Given the description of an element on the screen output the (x, y) to click on. 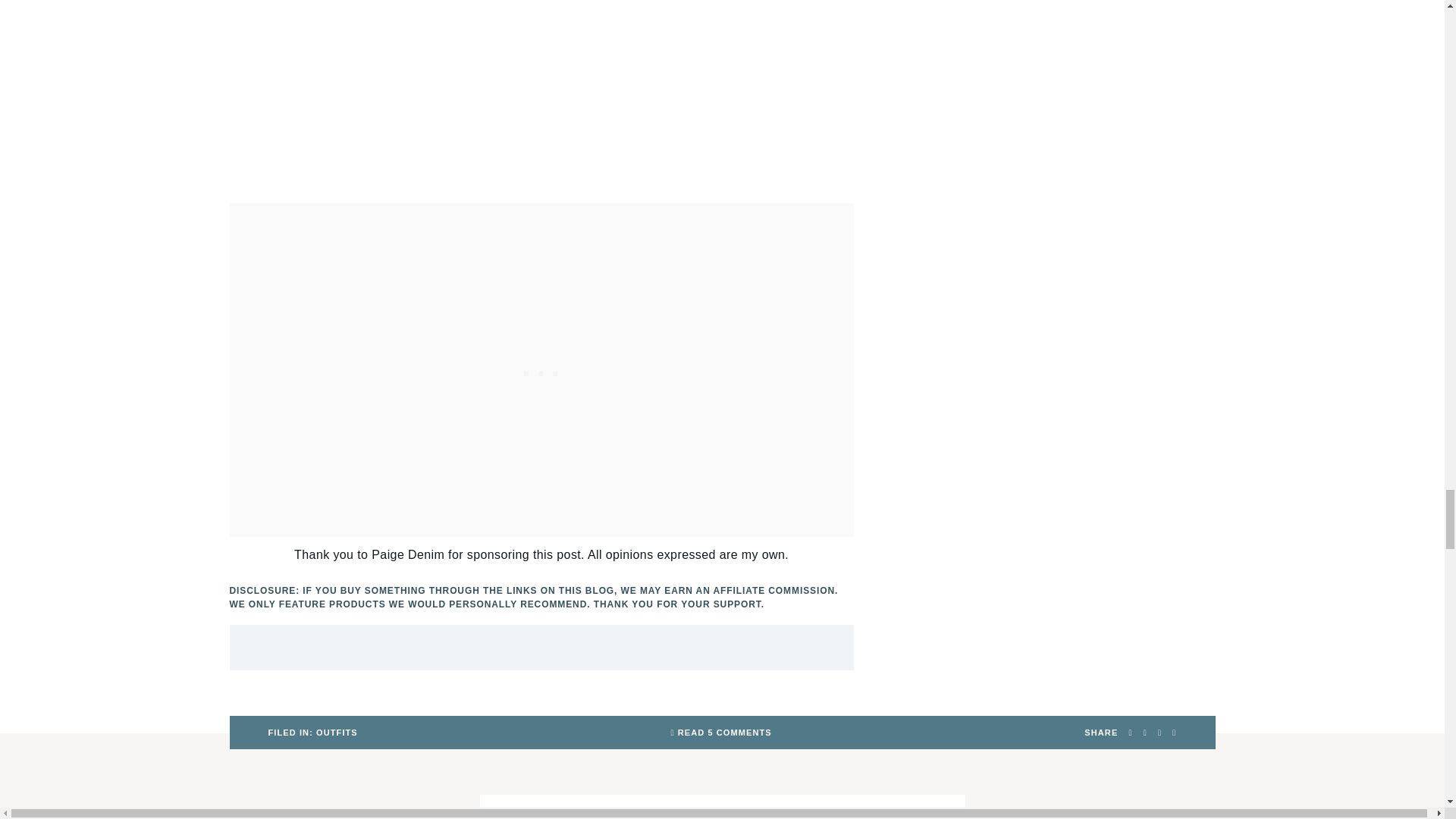
View all posts in Outfits (312, 732)
